Given the description of an element on the screen output the (x, y) to click on. 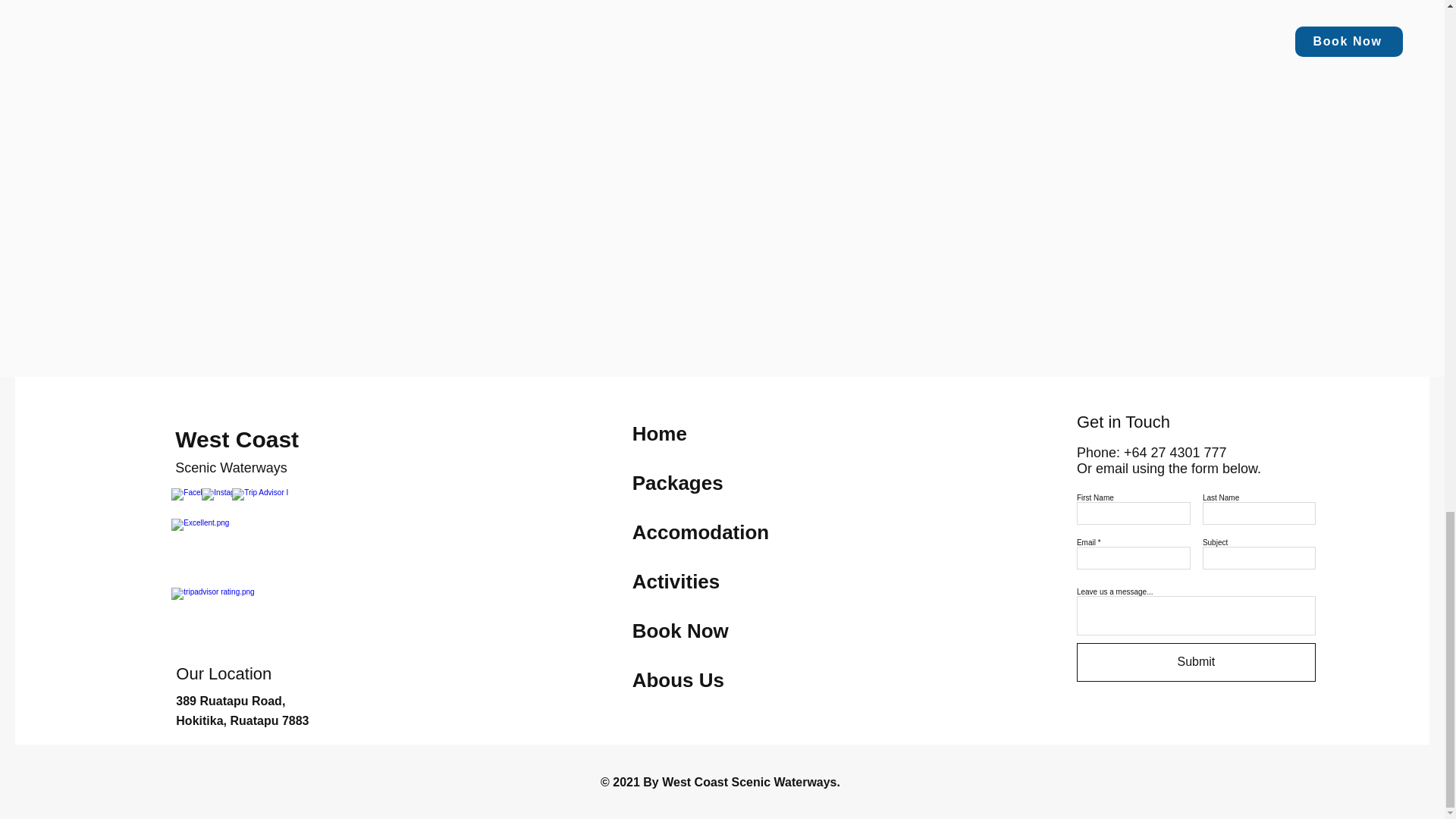
Accomodation (700, 531)
Scenic Waterways (230, 467)
West Coast (236, 439)
Submit (1196, 661)
Abous Us (677, 680)
Activities (675, 581)
Book Now (680, 630)
Home (659, 433)
Packages (677, 482)
